Given the description of an element on the screen output the (x, y) to click on. 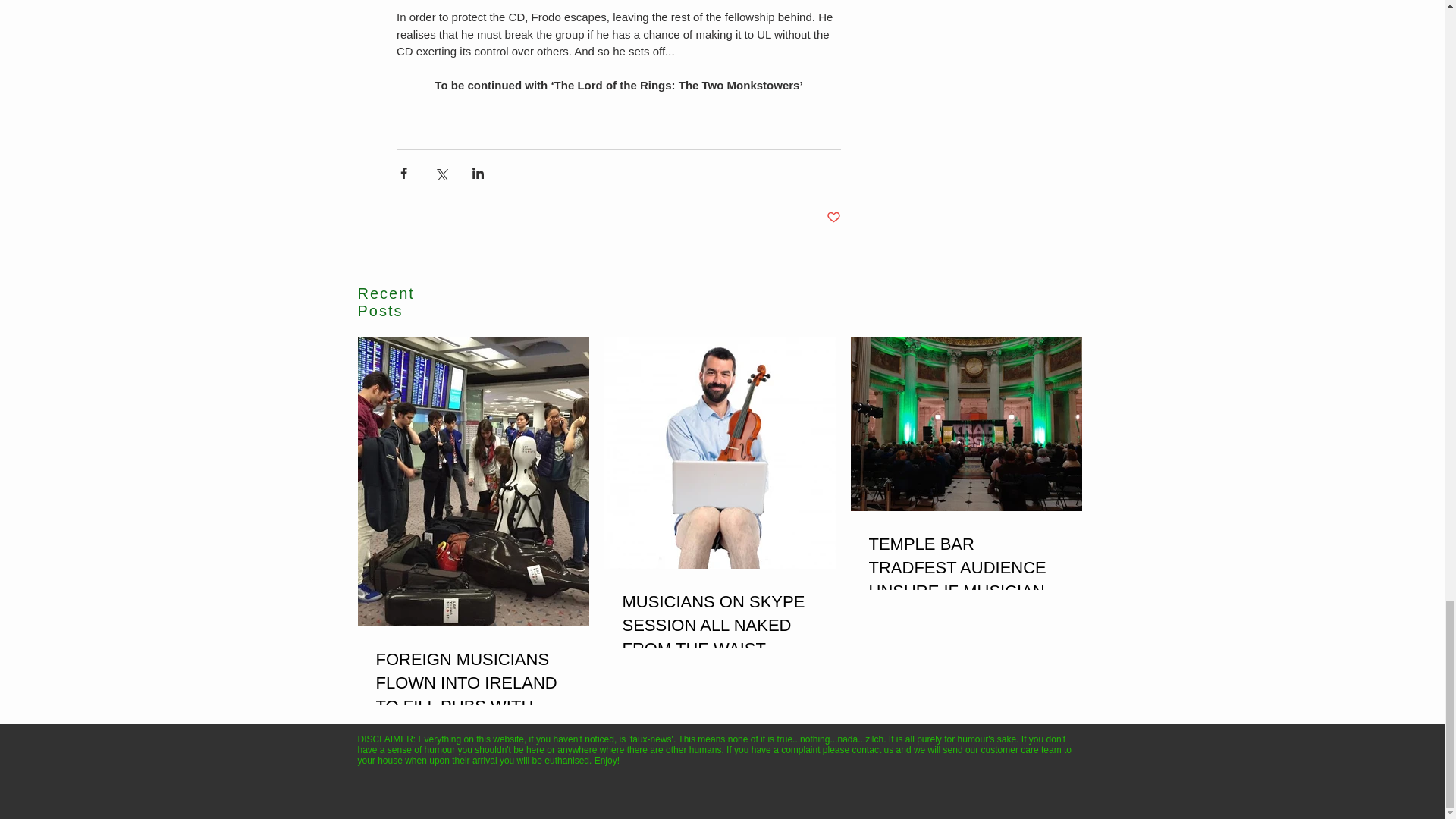
Post not marked as liked (834, 217)
